Given the description of an element on the screen output the (x, y) to click on. 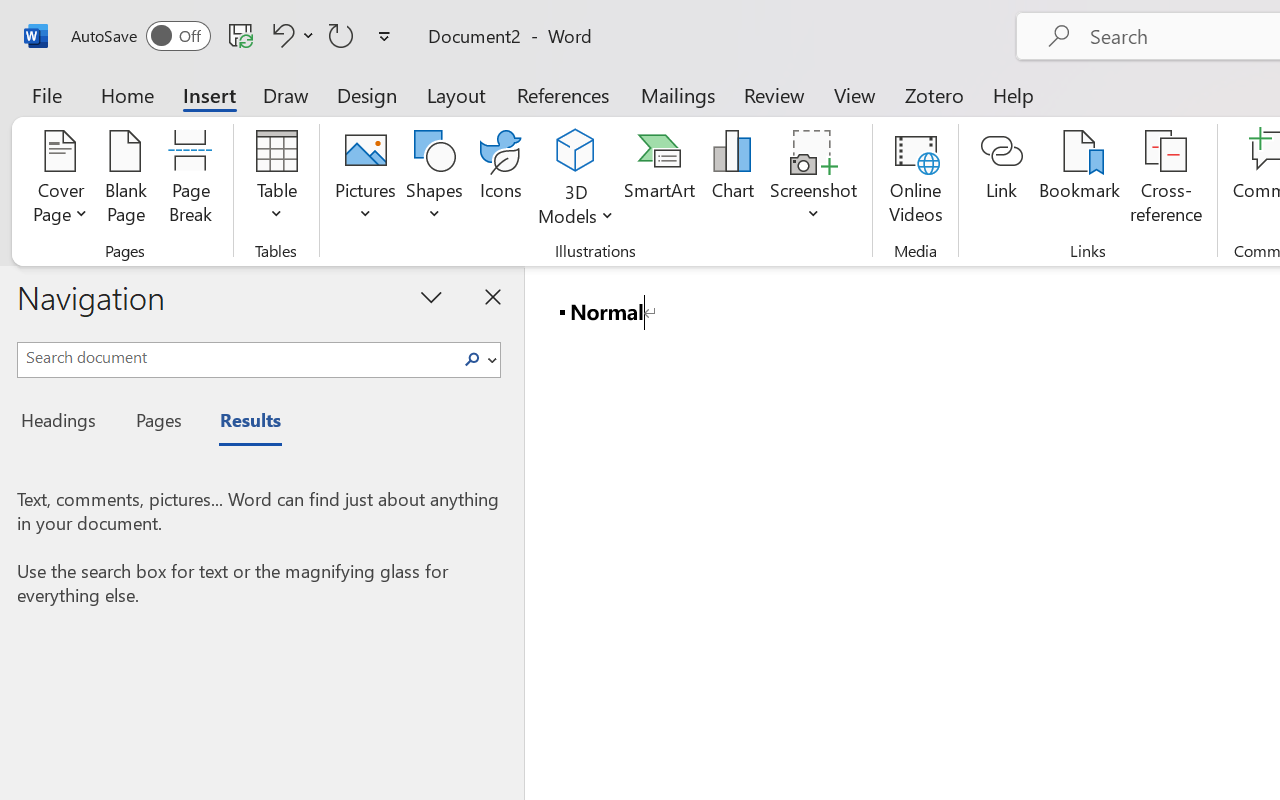
Shapes (435, 179)
AutoSave (140, 35)
Undo <ApplyStyleToDoc>b__0 (290, 35)
Chart... (732, 179)
Results (240, 423)
3D Models (576, 179)
Pictures (365, 179)
Insert (209, 94)
Customize Quick Access Toolbar (384, 35)
Review (774, 94)
Pages (156, 423)
